Given the description of an element on the screen output the (x, y) to click on. 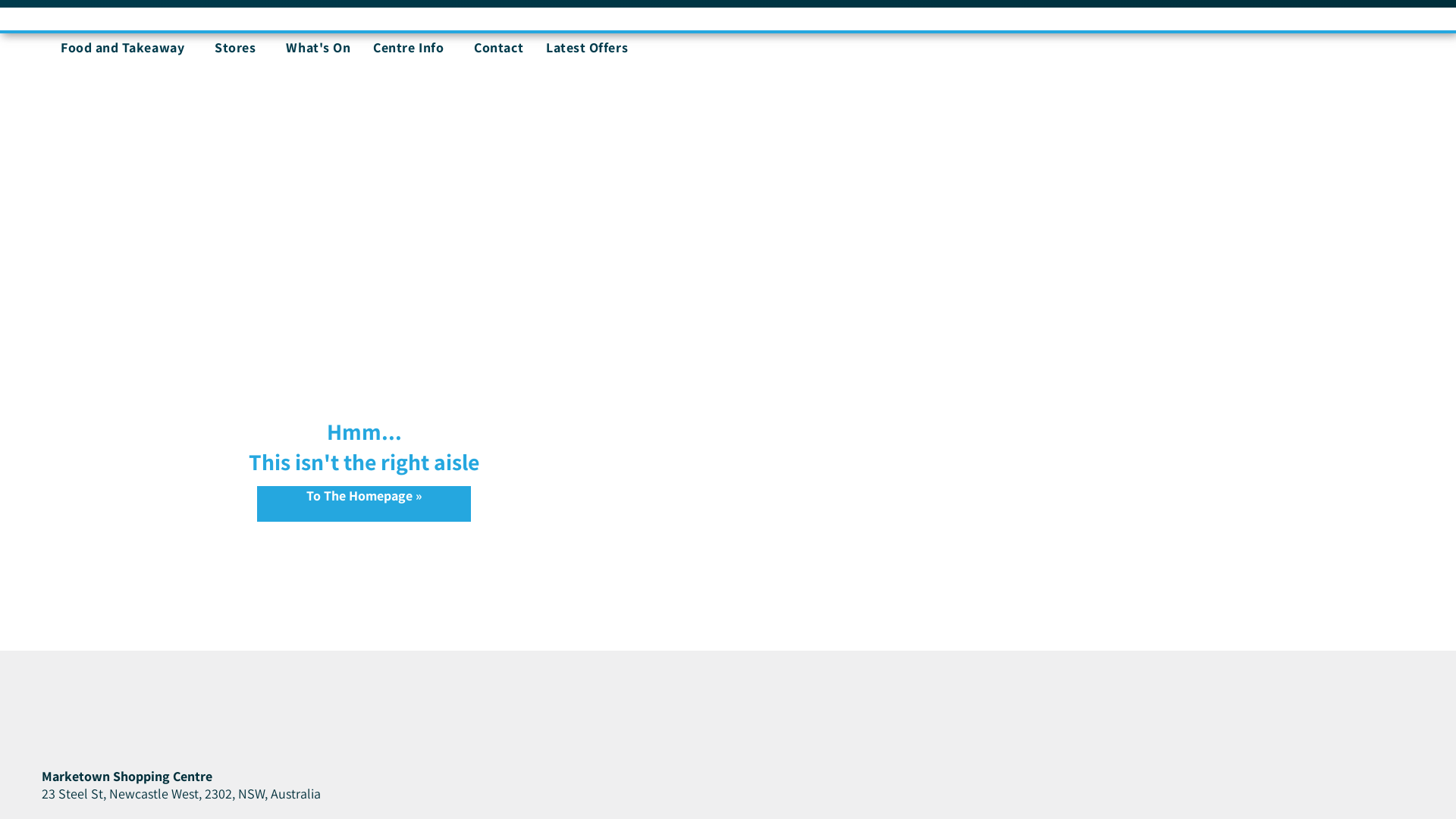
Contact Element type: text (498, 46)
Food and Takeaway Element type: text (126, 46)
What's On Element type: text (317, 46)
Stores Element type: text (238, 46)
Latest Offers Element type: text (586, 46)
Centre Info Element type: text (411, 46)
